Given the description of an element on the screen output the (x, y) to click on. 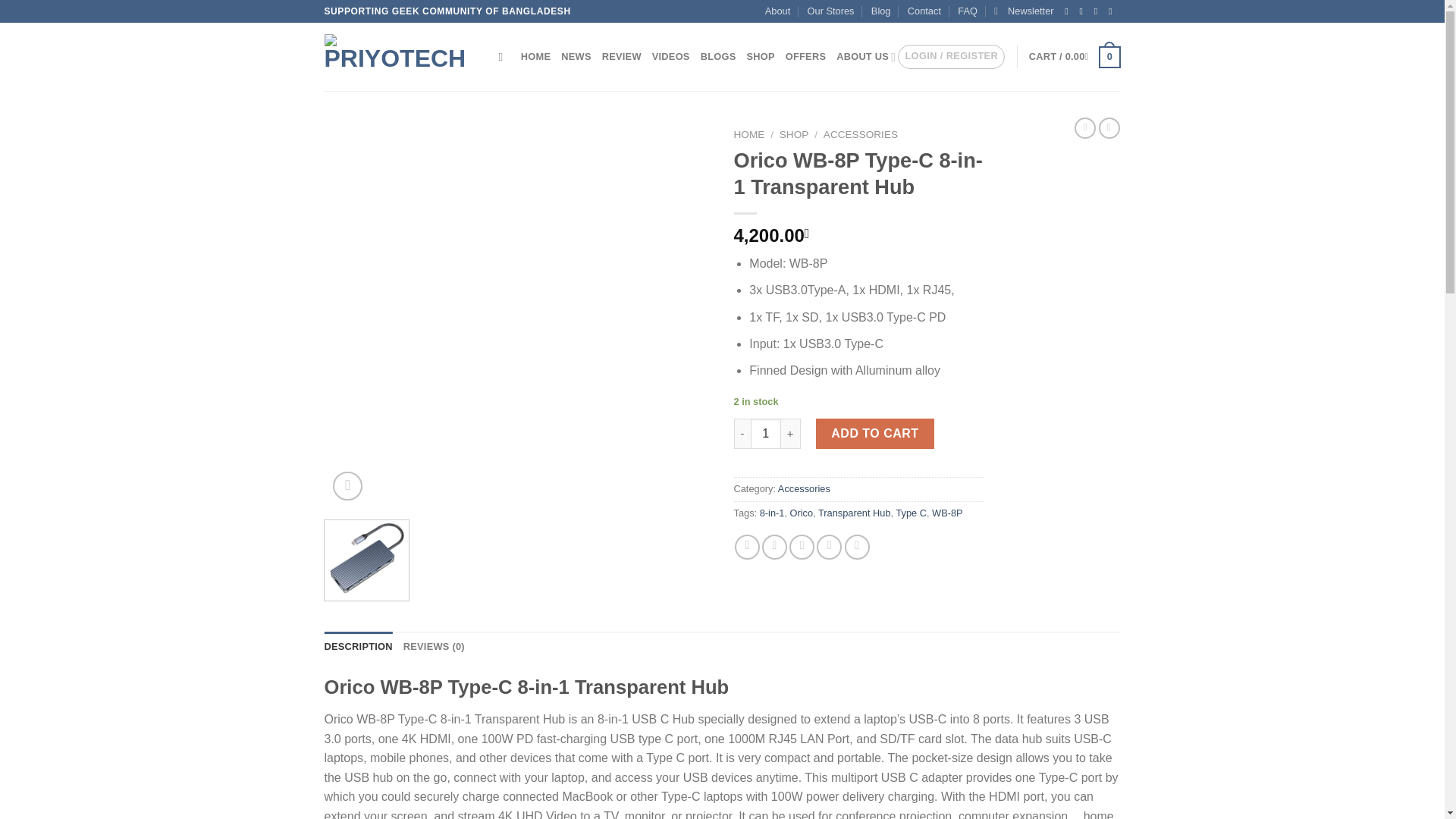
NEWS (575, 56)
Sign up for Newsletter (1023, 11)
About (777, 11)
SHOP (759, 56)
PriyoTech - Technology News, Blogs and Products! (400, 56)
Cart (1075, 57)
VIDEOS (671, 56)
ABOUT US (865, 56)
